Given the description of an element on the screen output the (x, y) to click on. 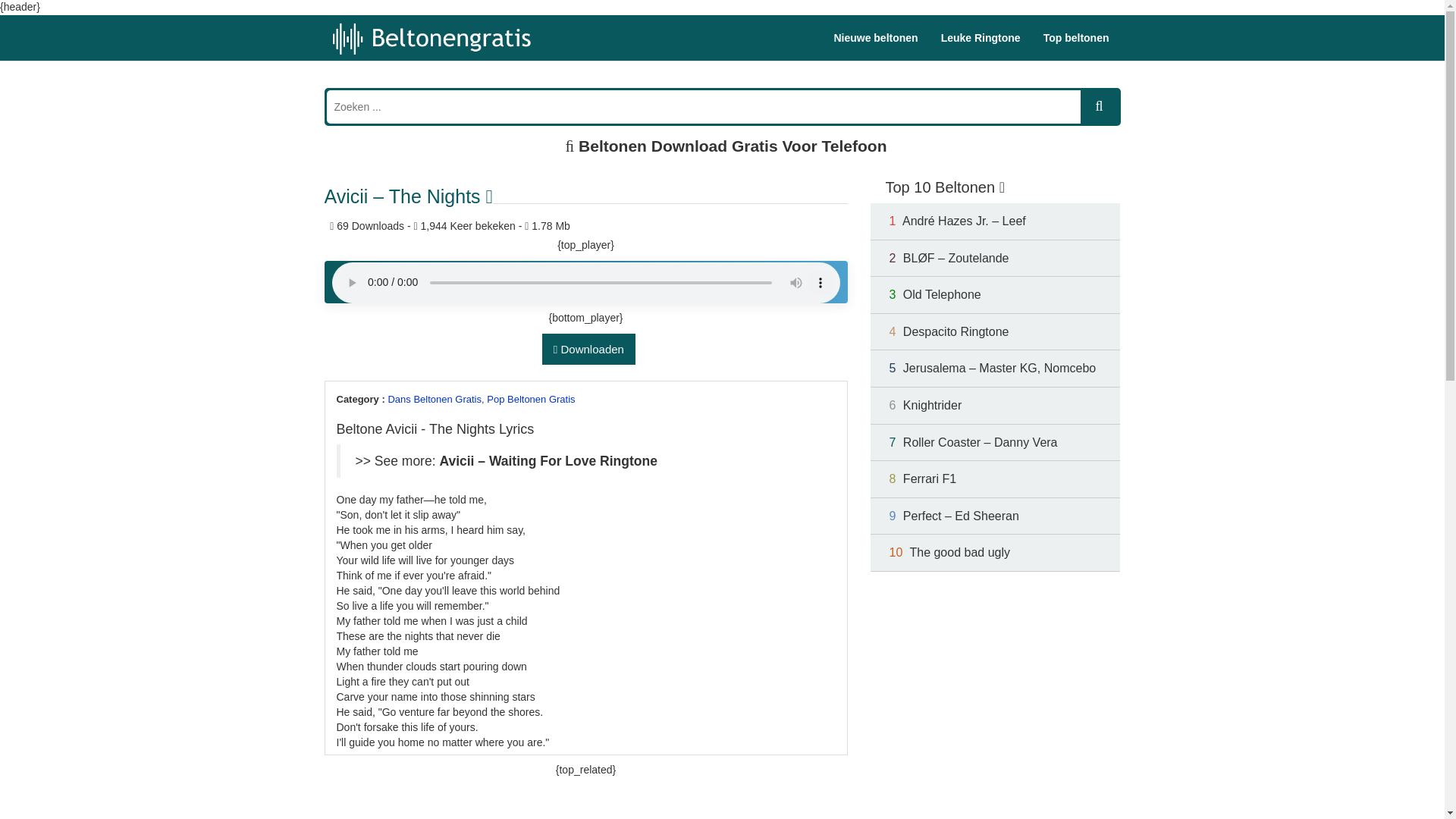
Pop Beltonen Gratis (530, 398)
Dans Beltonen Gratis (434, 398)
Top beltonen (1076, 37)
Pop Beltonen Gratis (530, 398)
Dans Beltonen Gratis (434, 398)
Top beltonen (1076, 37)
Nieuwe beltonen (875, 37)
Leuke Ringtone (981, 37)
Leuke Ringtone (981, 37)
Nieuwe beltonen (875, 37)
